Given the description of an element on the screen output the (x, y) to click on. 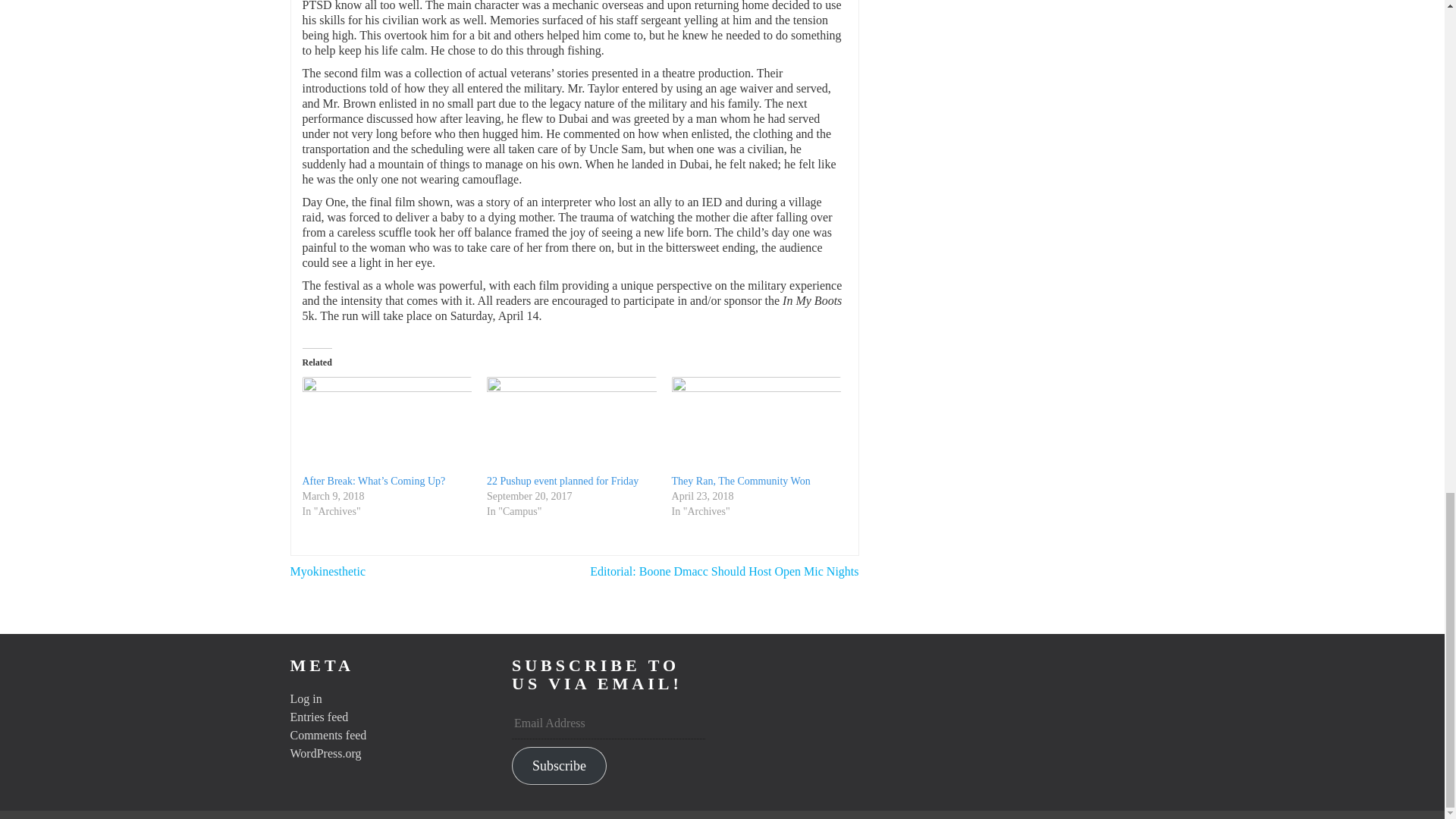
They Ran, The Community Won (740, 480)
22 Pushup event planned for Friday (562, 480)
22 Pushup event planned for Friday (571, 425)
They Ran, The Community Won (740, 480)
22 Pushup event planned for Friday (562, 480)
They Ran, The Community Won (756, 425)
Editorial: Boone Dmacc Should Host Open Mic Nights (724, 571)
Myokinesthetic (327, 571)
